Given the description of an element on the screen output the (x, y) to click on. 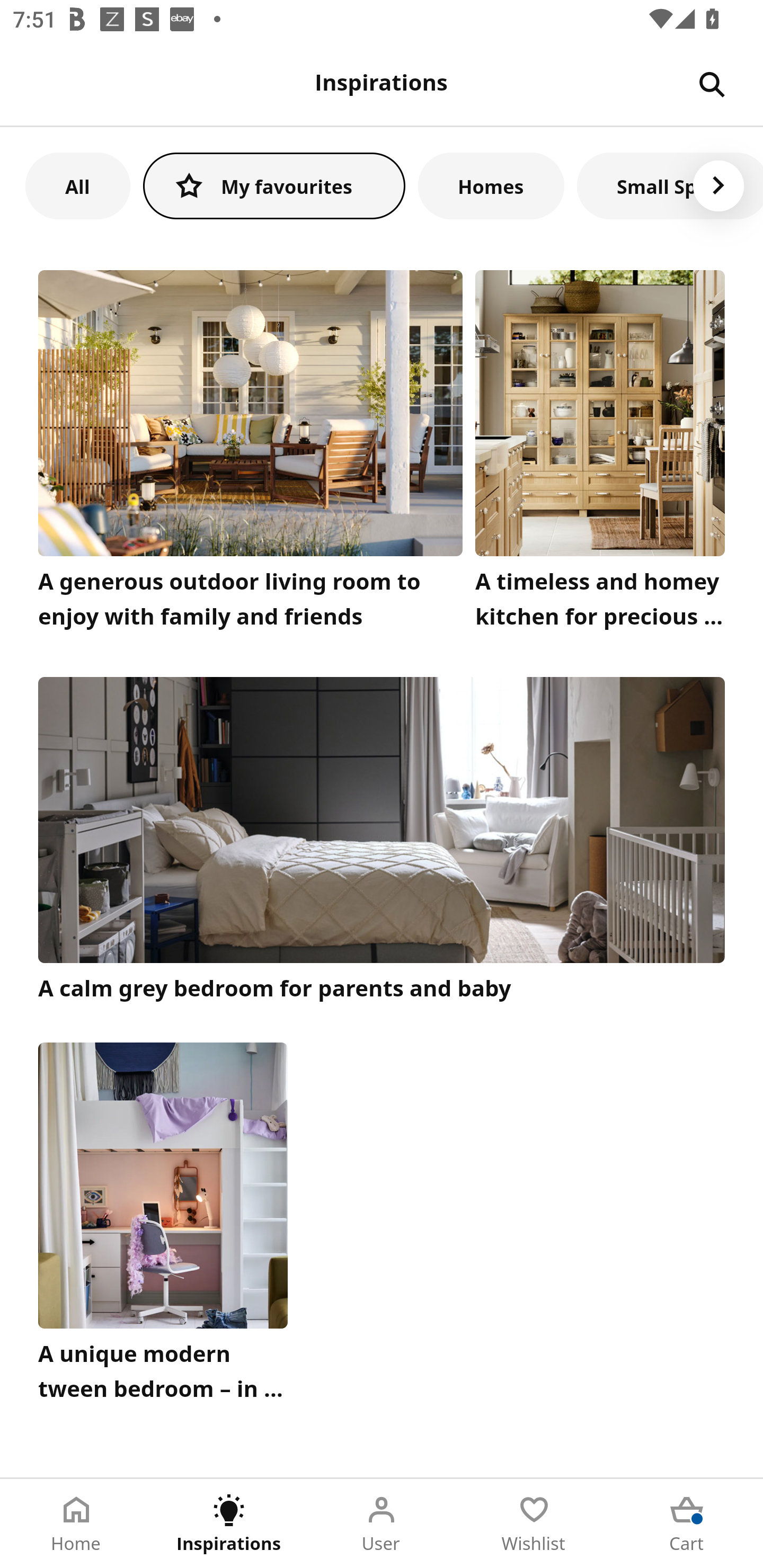
All (77, 185)
My favourites (274, 185)
Homes (491, 185)
A calm grey bedroom for parents and baby (381, 841)
A unique modern tween bedroom – in a nook (162, 1226)
Home
Tab 1 of 5 (76, 1522)
Inspirations
Tab 2 of 5 (228, 1522)
User
Tab 3 of 5 (381, 1522)
Wishlist
Tab 4 of 5 (533, 1522)
Cart
Tab 5 of 5 (686, 1522)
